Given the description of an element on the screen output the (x, y) to click on. 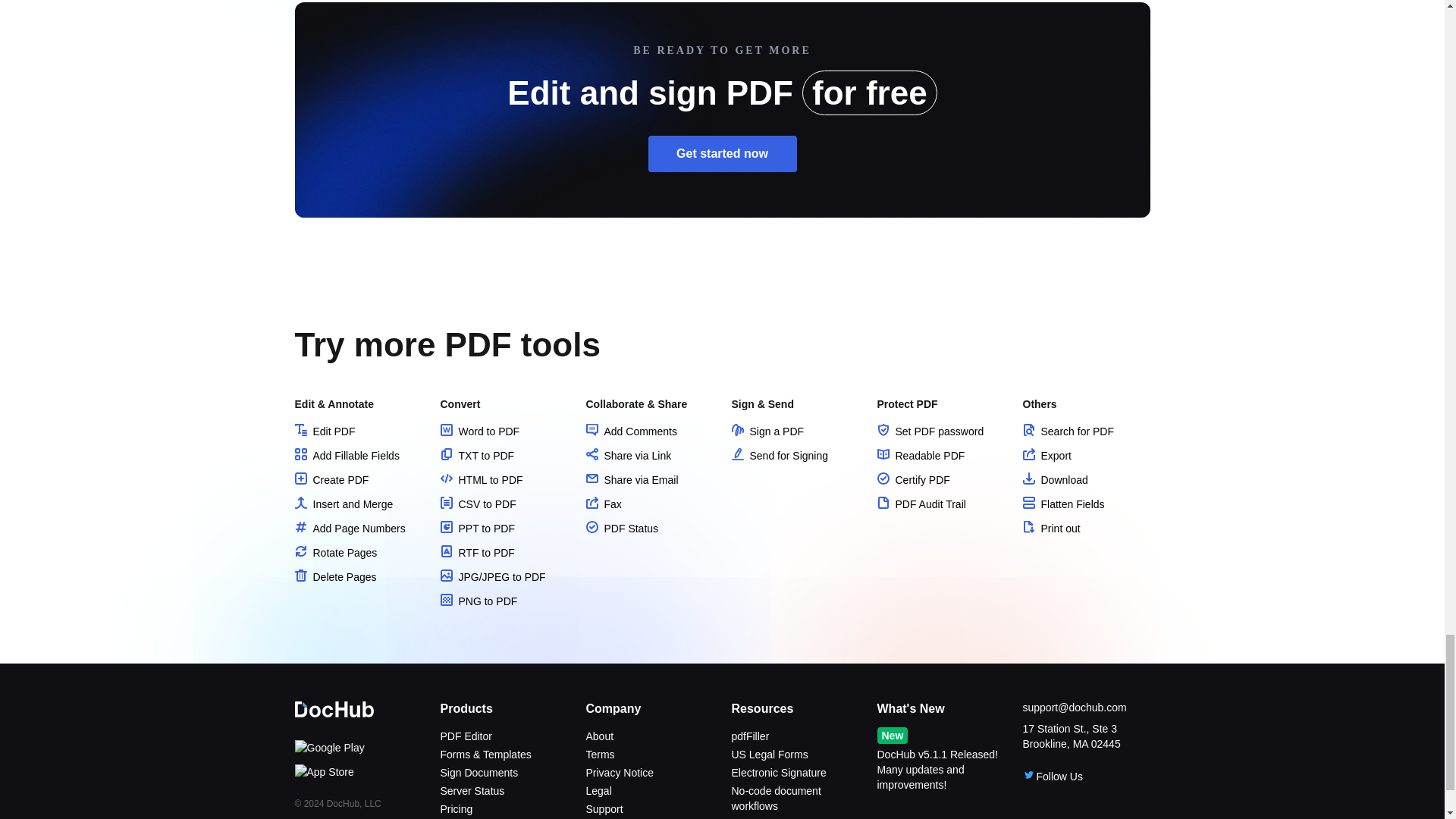
Share via Email (631, 480)
Edit PDF (324, 431)
PDF Status (621, 528)
Delete Pages (334, 576)
Fax (603, 503)
CSV to PDF (477, 503)
RTF to PDF (476, 552)
Share via Link (628, 455)
PNG to PDF (477, 601)
Insert and Merge (343, 503)
